Given the description of an element on the screen output the (x, y) to click on. 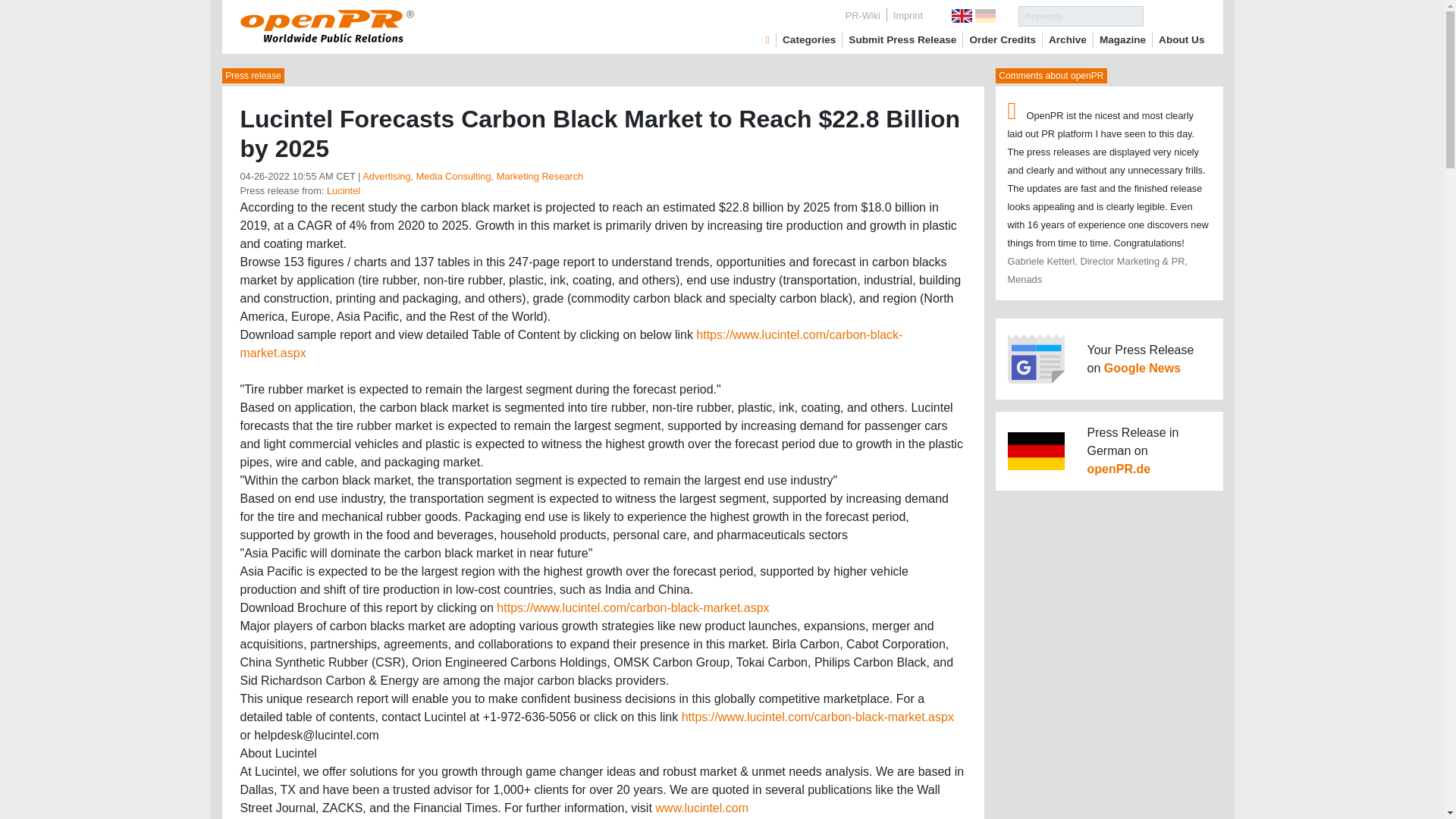
archive und pressrelease of Lucintel (342, 190)
Magazine (1122, 39)
Archive (1067, 39)
Advertising, Media Consulting, Marketing Research (472, 175)
Submit Press Release (902, 39)
Categories (809, 39)
PR-Wiki (863, 15)
Order Credits (1002, 39)
About Us (1181, 39)
Search   (1173, 15)
